Given the description of an element on the screen output the (x, y) to click on. 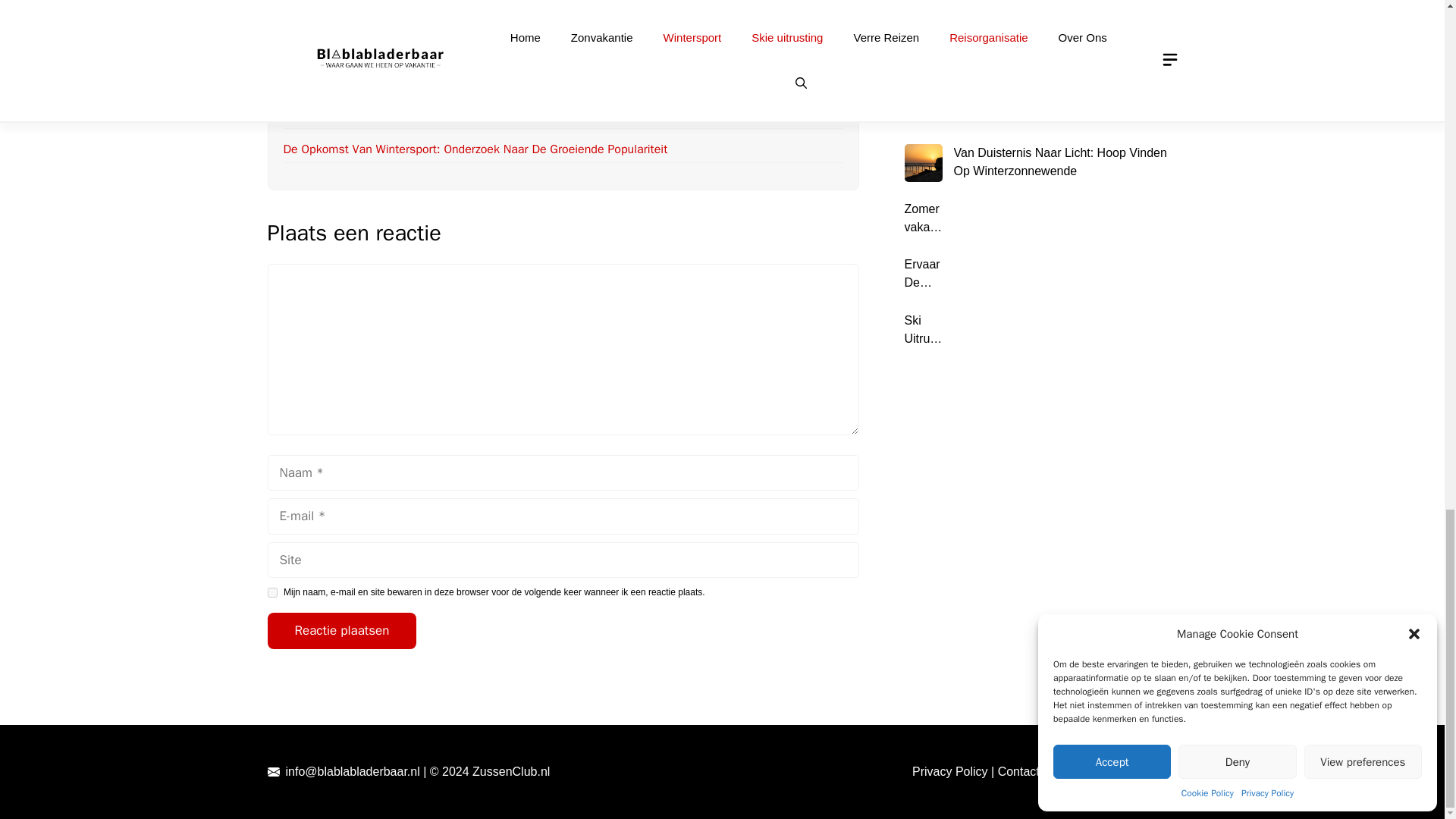
Van Duisternis Naar Licht: Hoop Vinden Op Winterzonnewende (447, 12)
yes (271, 592)
Reactie plaatsen (341, 630)
